Given the description of an element on the screen output the (x, y) to click on. 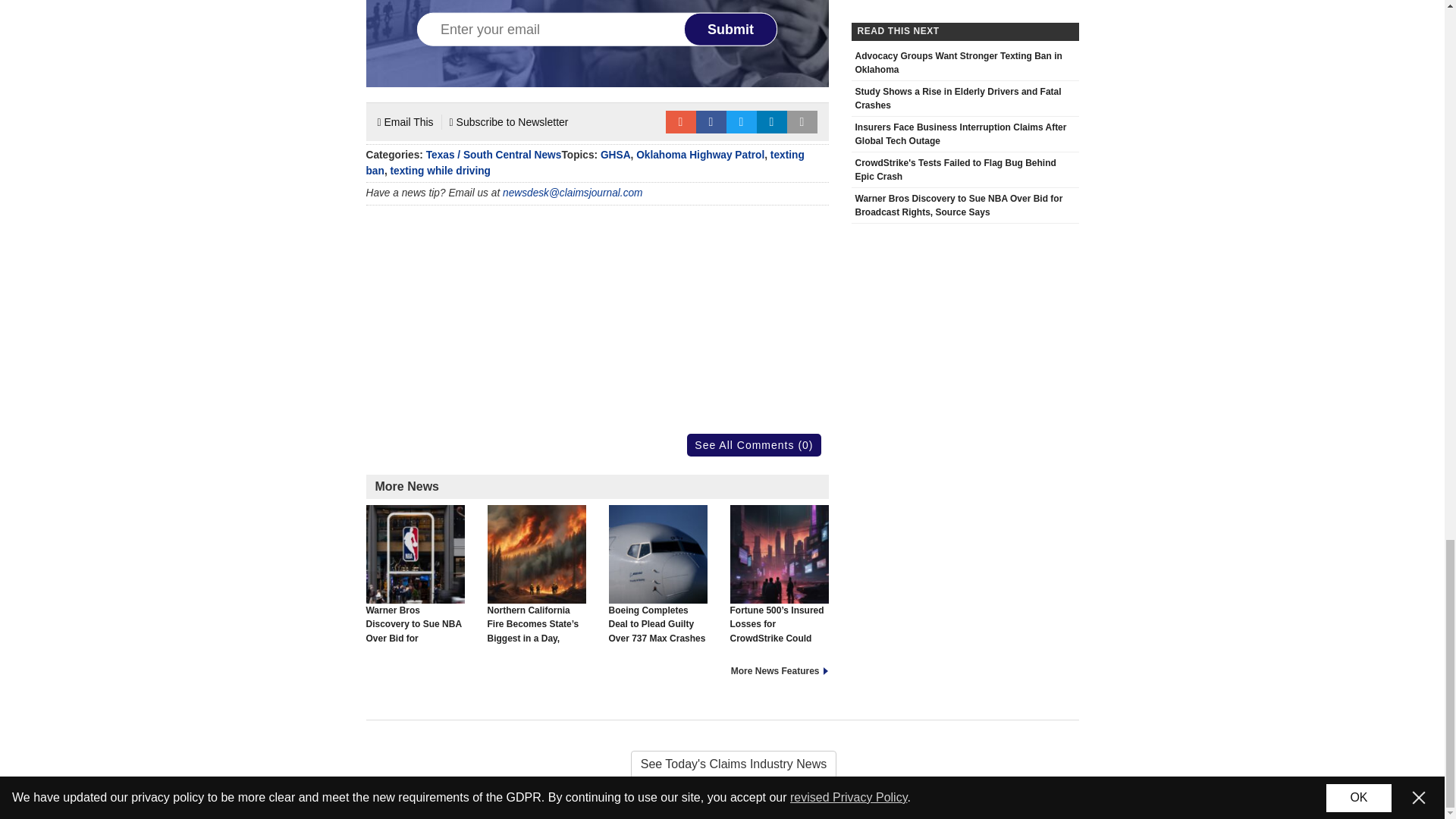
Email to a friend (680, 121)
Post to Facebook. (710, 121)
Submit (730, 28)
Share on LinkedIn. (772, 121)
Share on Twitter. (741, 121)
Print Article (801, 121)
See Today's Claims Industry News (721, 764)
Email This (405, 121)
See Today's Claims Industry News (721, 764)
